Given the description of an element on the screen output the (x, y) to click on. 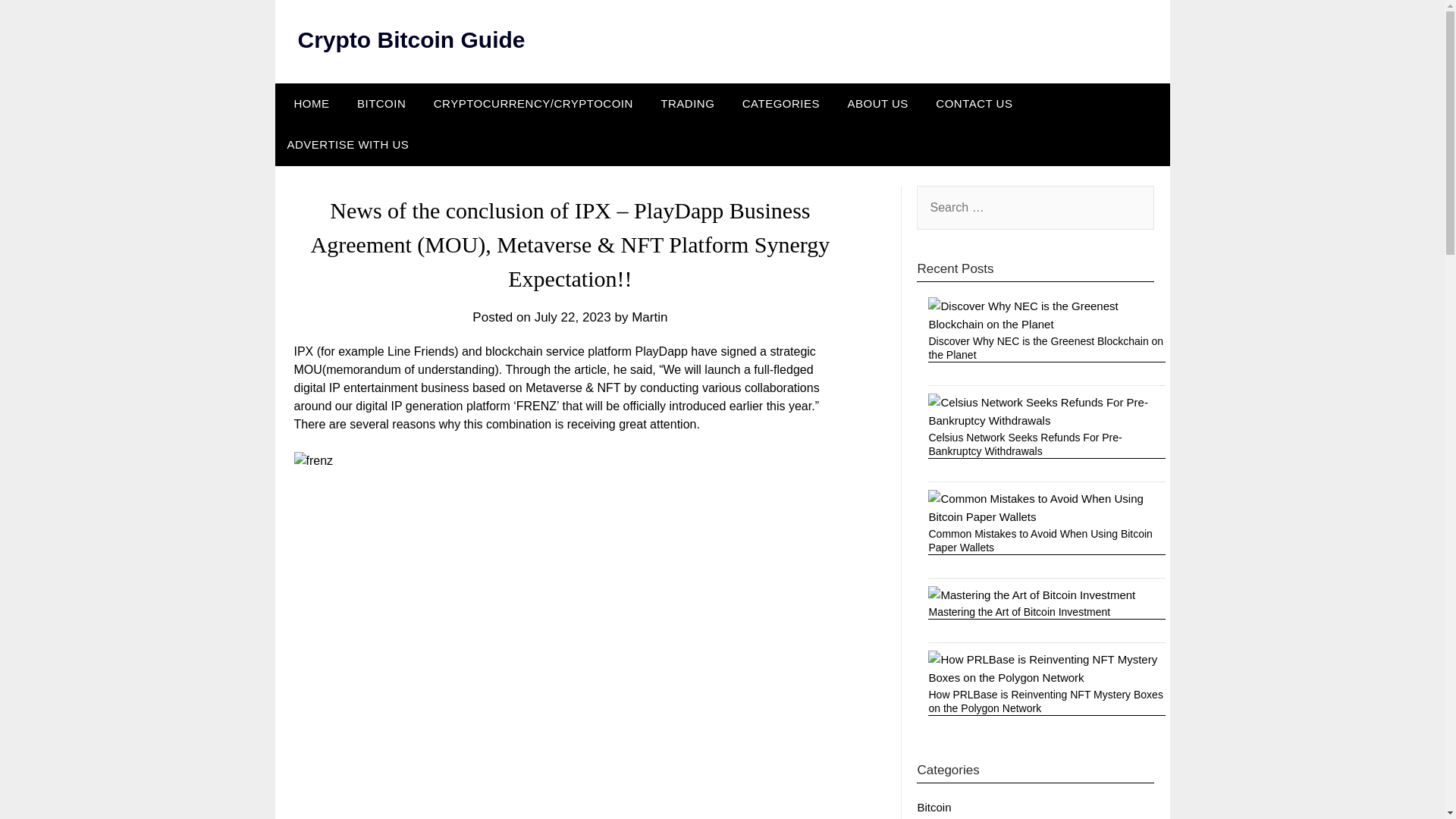
Martin (648, 317)
BITCOIN (381, 103)
July 22, 2023 (572, 317)
CONTACT US (974, 103)
HOME (307, 103)
ABOUT US (877, 103)
Crypto Bitcoin Guide (410, 39)
ADVERTISE WITH US (347, 144)
CATEGORIES (780, 103)
